Given the description of an element on the screen output the (x, y) to click on. 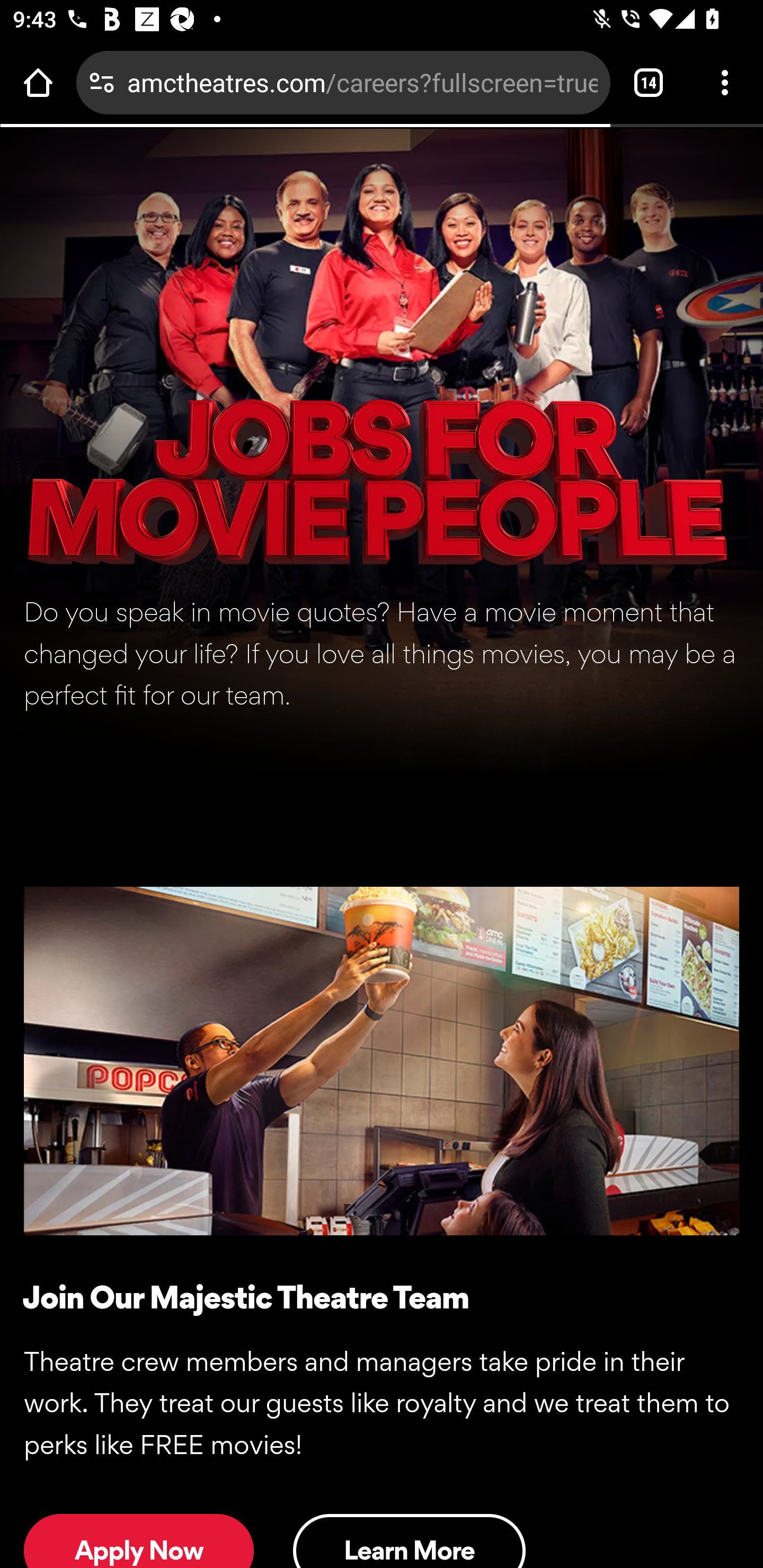
Open the home page (38, 82)
Connection is secure (101, 82)
Switch or close tabs (648, 82)
Customize and control Google Chrome (724, 82)
Apply Now (138, 1540)
Learn More (409, 1540)
